Given the description of an element on the screen output the (x, y) to click on. 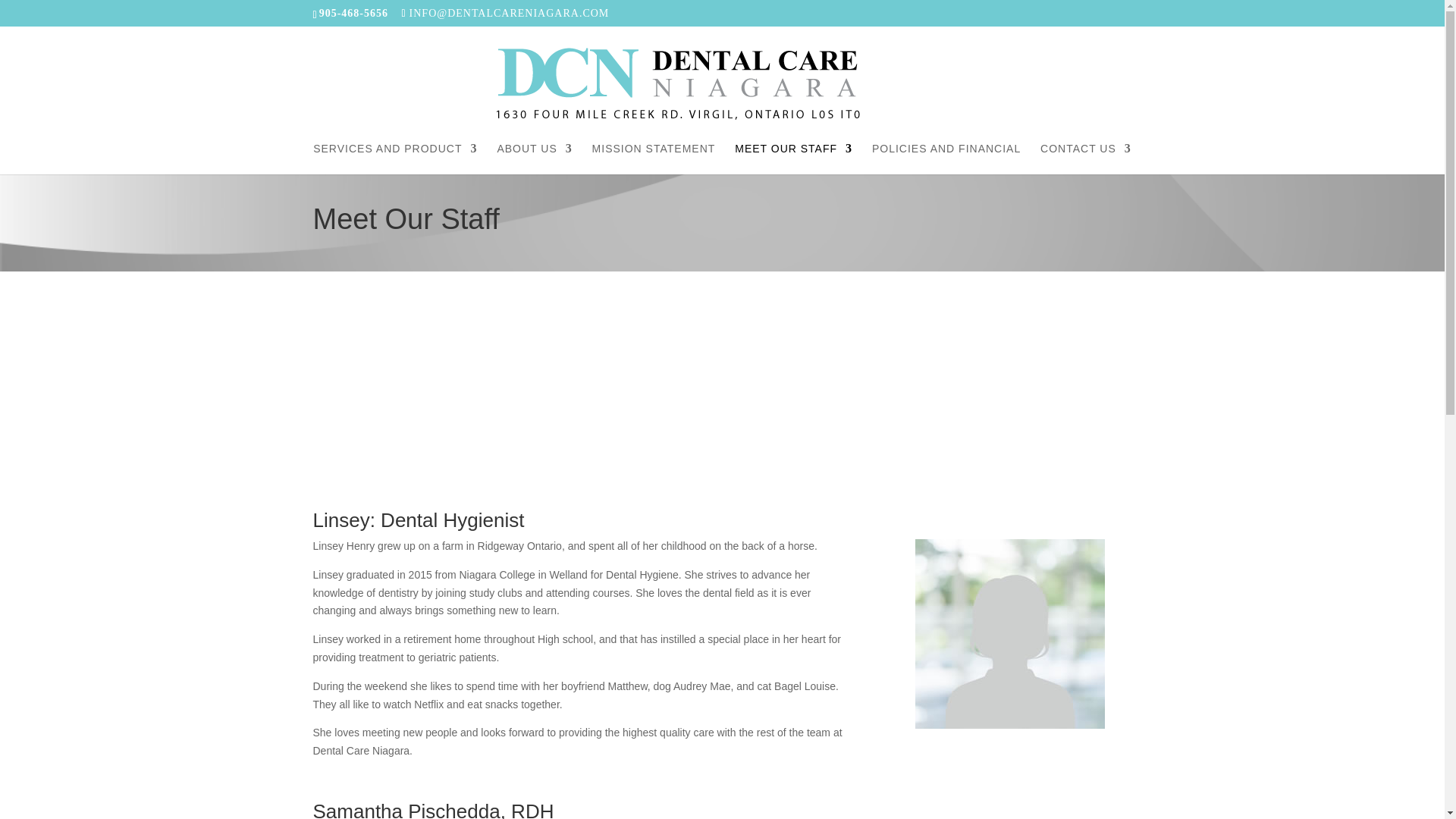
MISSION STATEMENT (654, 158)
SERVICES AND PRODUCT (395, 158)
POLICIES AND FINANCIAL (946, 158)
PLACEd-1 (1010, 633)
ABOUT US (534, 158)
MEET OUR STAFF (793, 158)
CONTACT US (1086, 158)
